Given the description of an element on the screen output the (x, y) to click on. 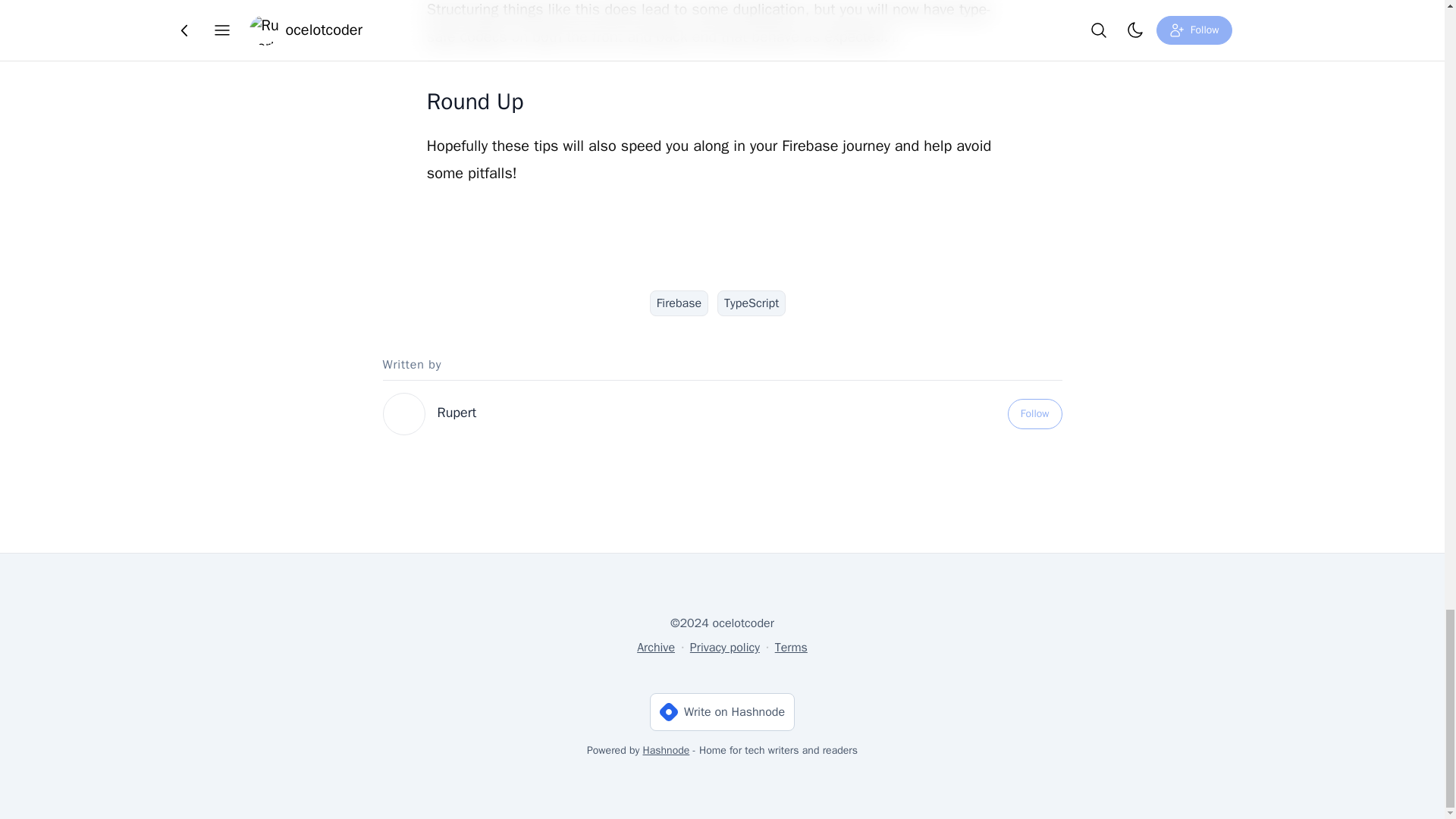
Follow (1034, 413)
TypeScript (751, 303)
Firebase (678, 303)
Rupert (456, 412)
